Given the description of an element on the screen output the (x, y) to click on. 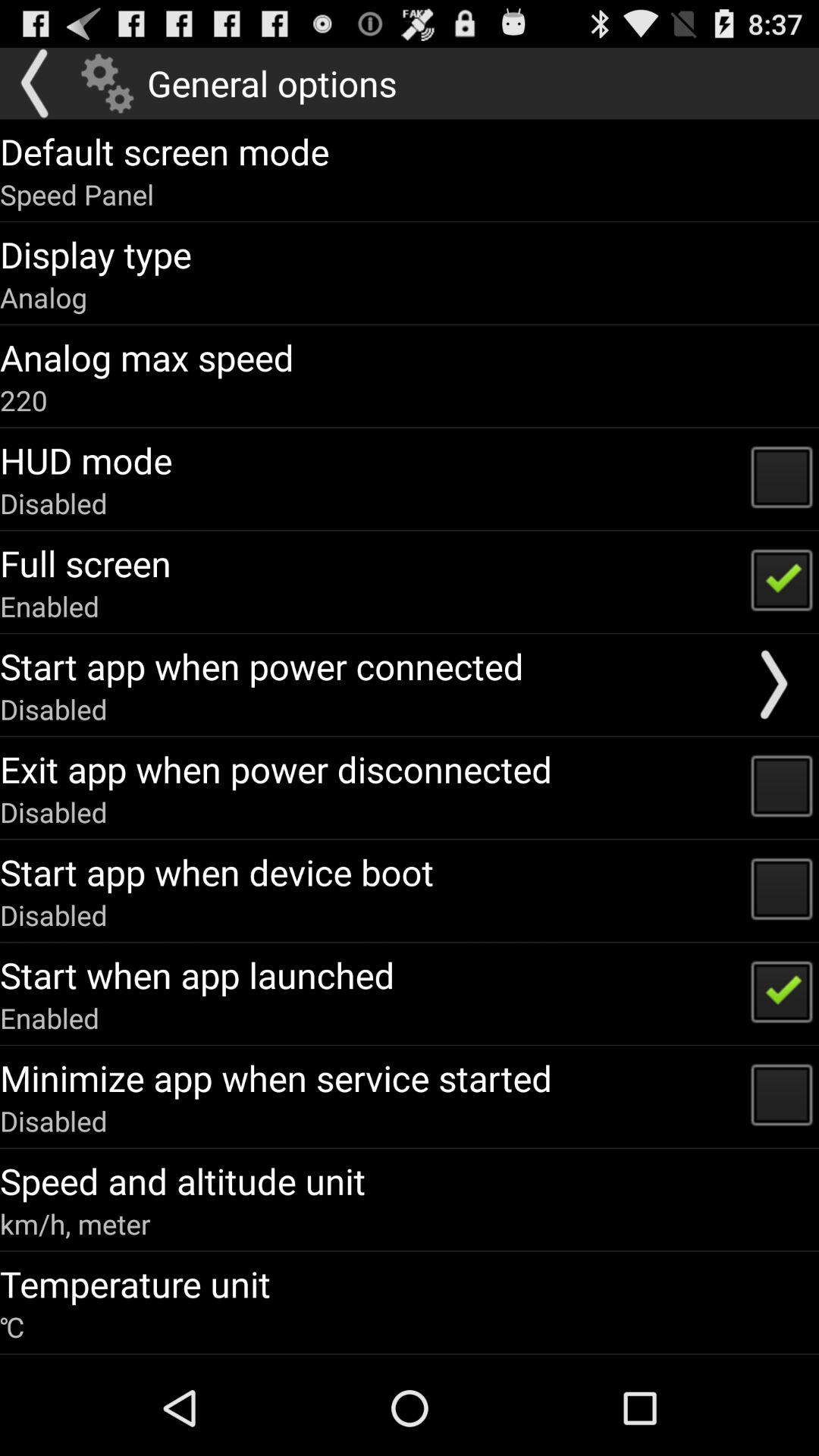
scroll to the display type icon (95, 254)
